Given the description of an element on the screen output the (x, y) to click on. 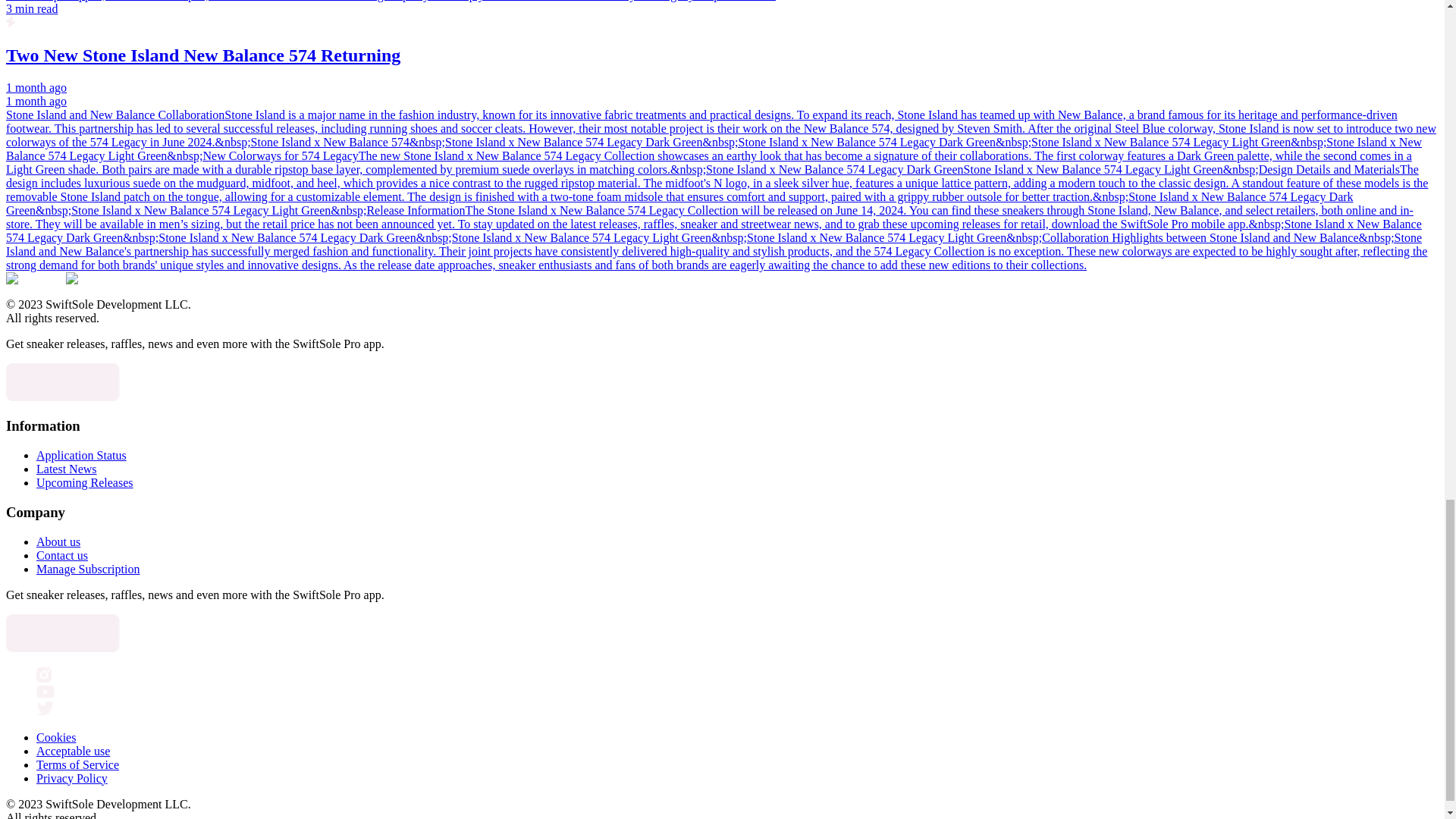
Privacy Policy (71, 778)
Contact us (61, 554)
Manage Subscription (87, 568)
Cookies (55, 737)
Latest News (66, 468)
About us (58, 541)
Upcoming Releases (84, 481)
Application Status (81, 454)
Acceptable use (73, 750)
Terms of Service (77, 764)
